Given the description of an element on the screen output the (x, y) to click on. 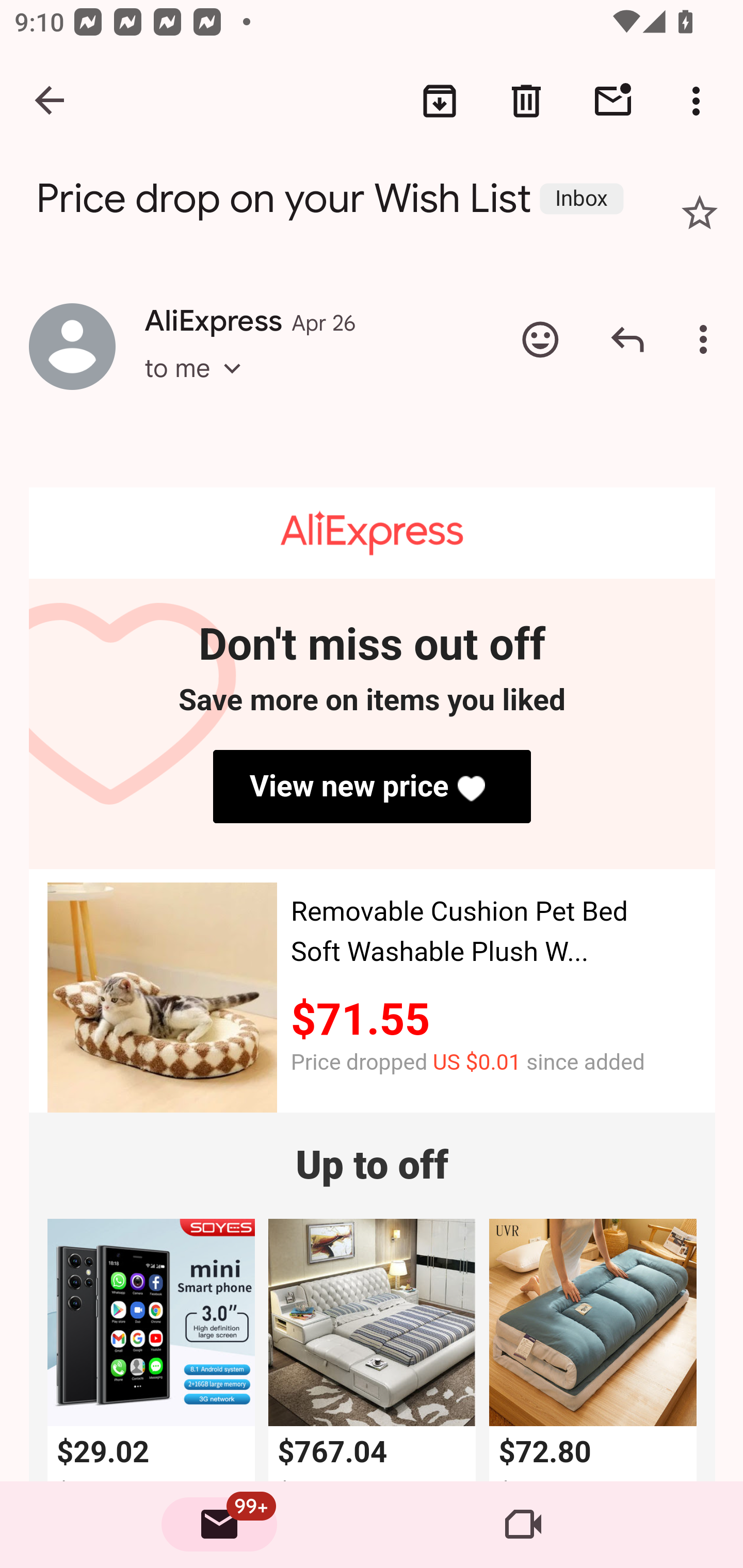
Navigate up (50, 101)
Archive (439, 101)
Delete (525, 101)
Mark unread (612, 101)
More options (699, 101)
Add emoji reaction (540, 339)
Reply (626, 339)
More options (706, 339)
Show contact information for AliExpress (71, 346)
to me (199, 386)
AliExpress (371, 532)
View new price 收藏 View new price 收藏 (371, 786)
Meet (523, 1524)
